Given the description of an element on the screen output the (x, y) to click on. 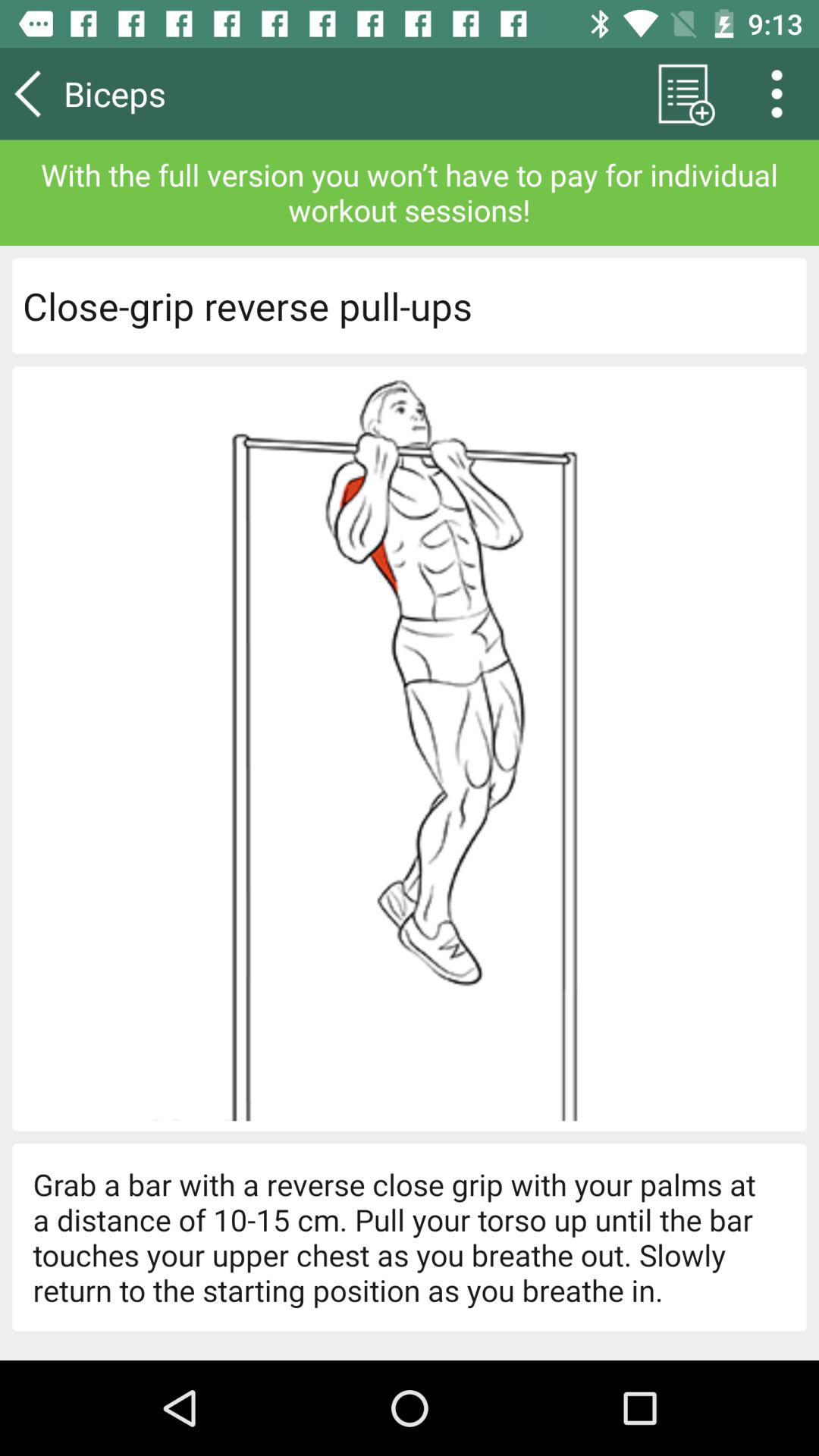
press app above the with the full app (682, 93)
